Given the description of an element on the screen output the (x, y) to click on. 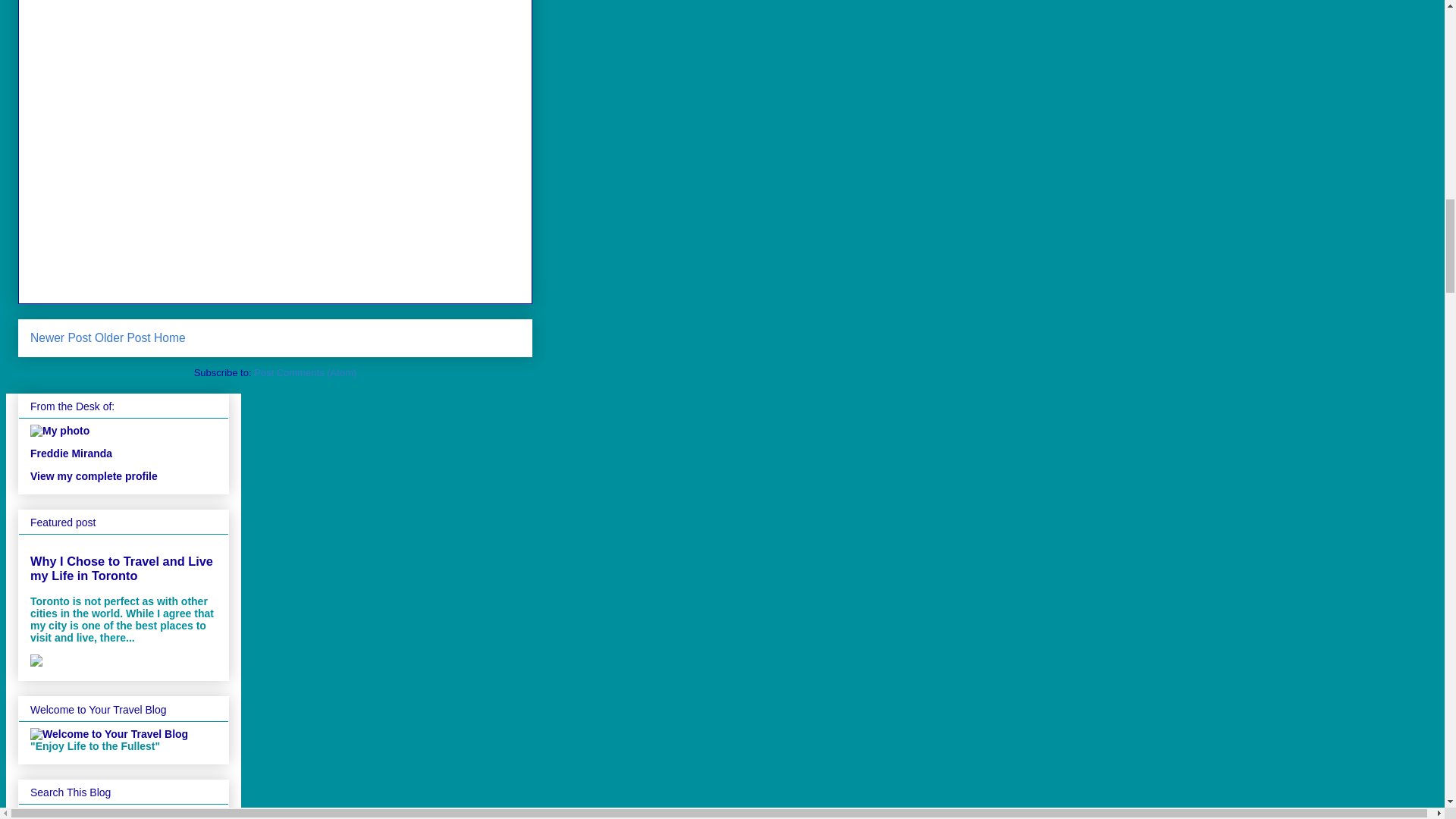
Older Post (122, 337)
search (125, 814)
Search (125, 814)
Home (170, 337)
search (66, 814)
Newer Post (60, 337)
Search (125, 814)
Freddie Miranda (71, 453)
Older Post (122, 337)
Newer Post (60, 337)
